Given the description of an element on the screen output the (x, y) to click on. 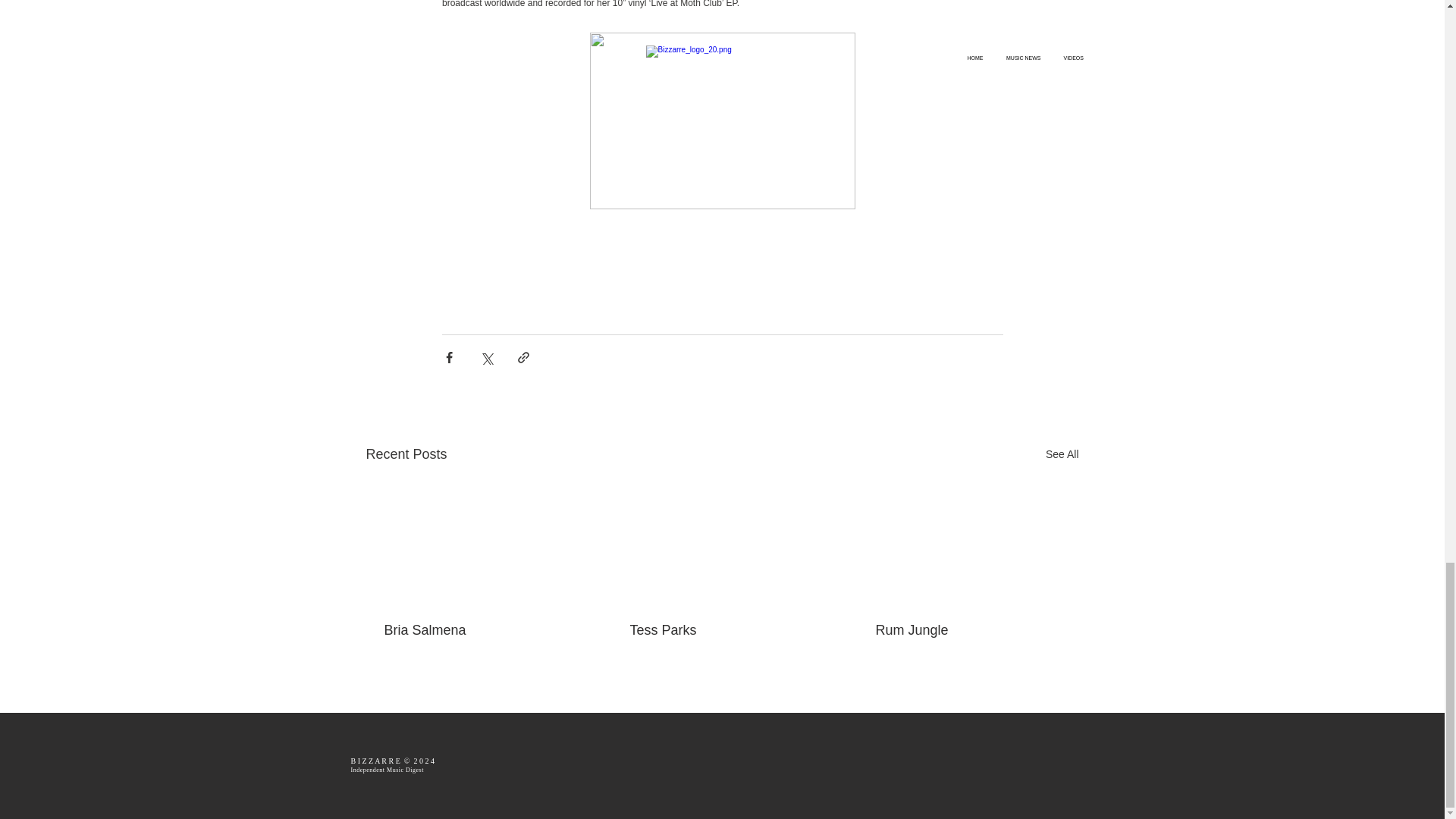
Rum Jungle (966, 630)
Tess Parks (720, 630)
See All (1061, 454)
Bria Salmena (475, 630)
